Given the description of an element on the screen output the (x, y) to click on. 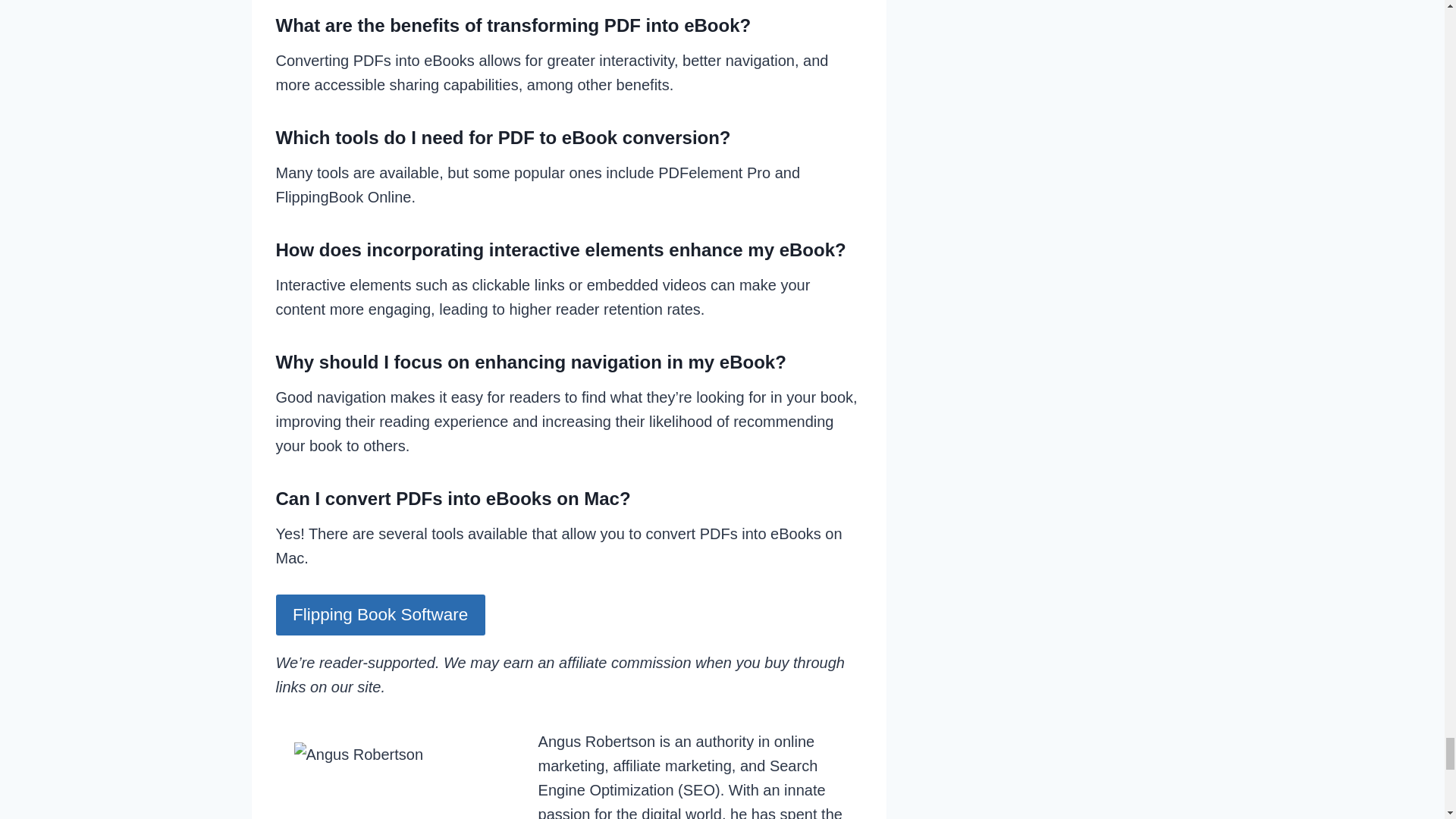
Flipping Book Software (380, 614)
Flipping Book Software (380, 614)
